Given the description of an element on the screen output the (x, y) to click on. 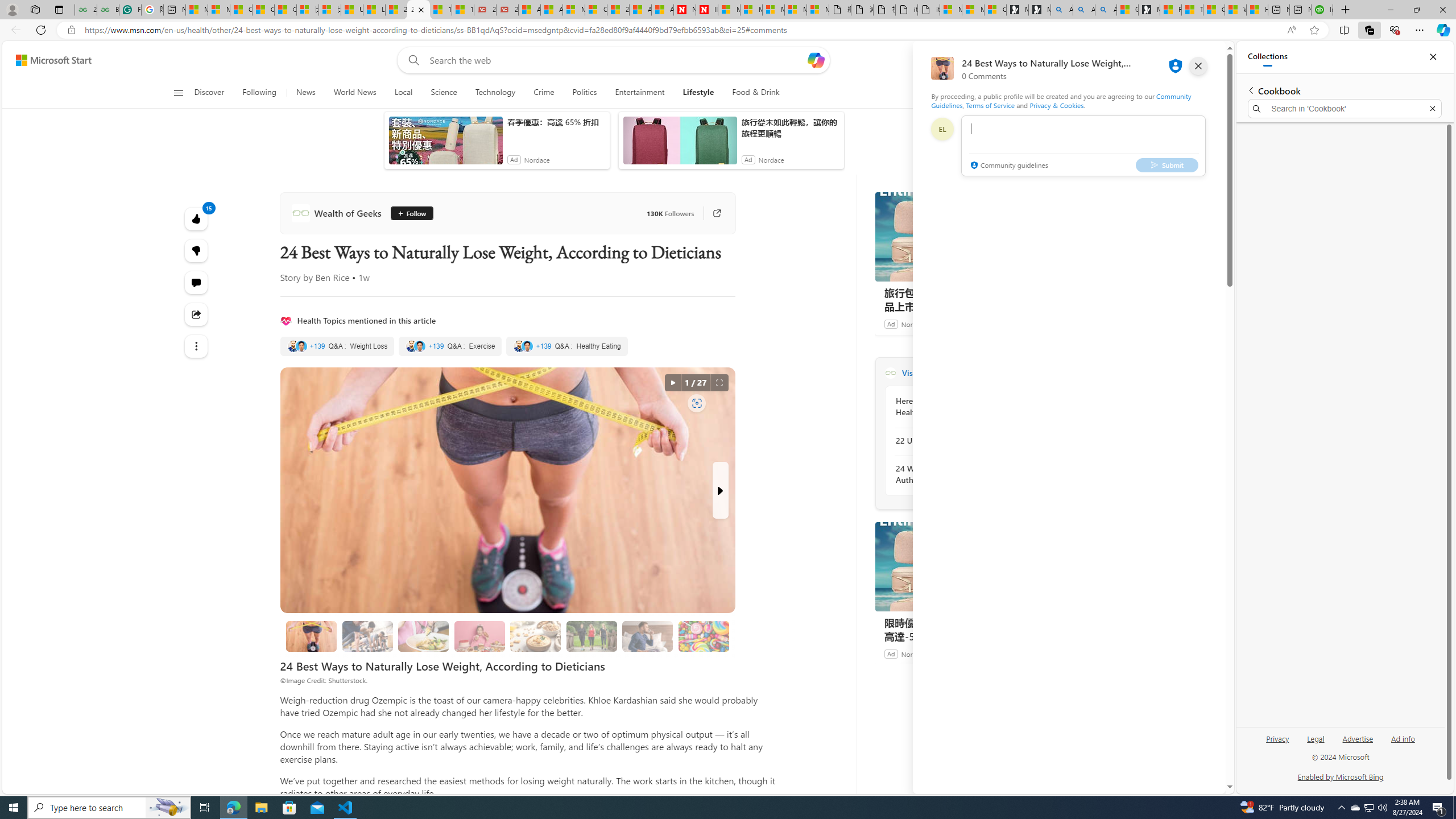
6. Drink Water Before Meals (646, 635)
Visit Wealth of Geeks website (1031, 372)
Terms of Service (989, 104)
20 Ways to Boost Your Protein Intake at Every Meal (618, 9)
How to Use a TV as a Computer Monitor (1256, 9)
Lifestyle - MSN (374, 9)
Community Guidelines (1060, 100)
